Given the description of an element on the screen output the (x, y) to click on. 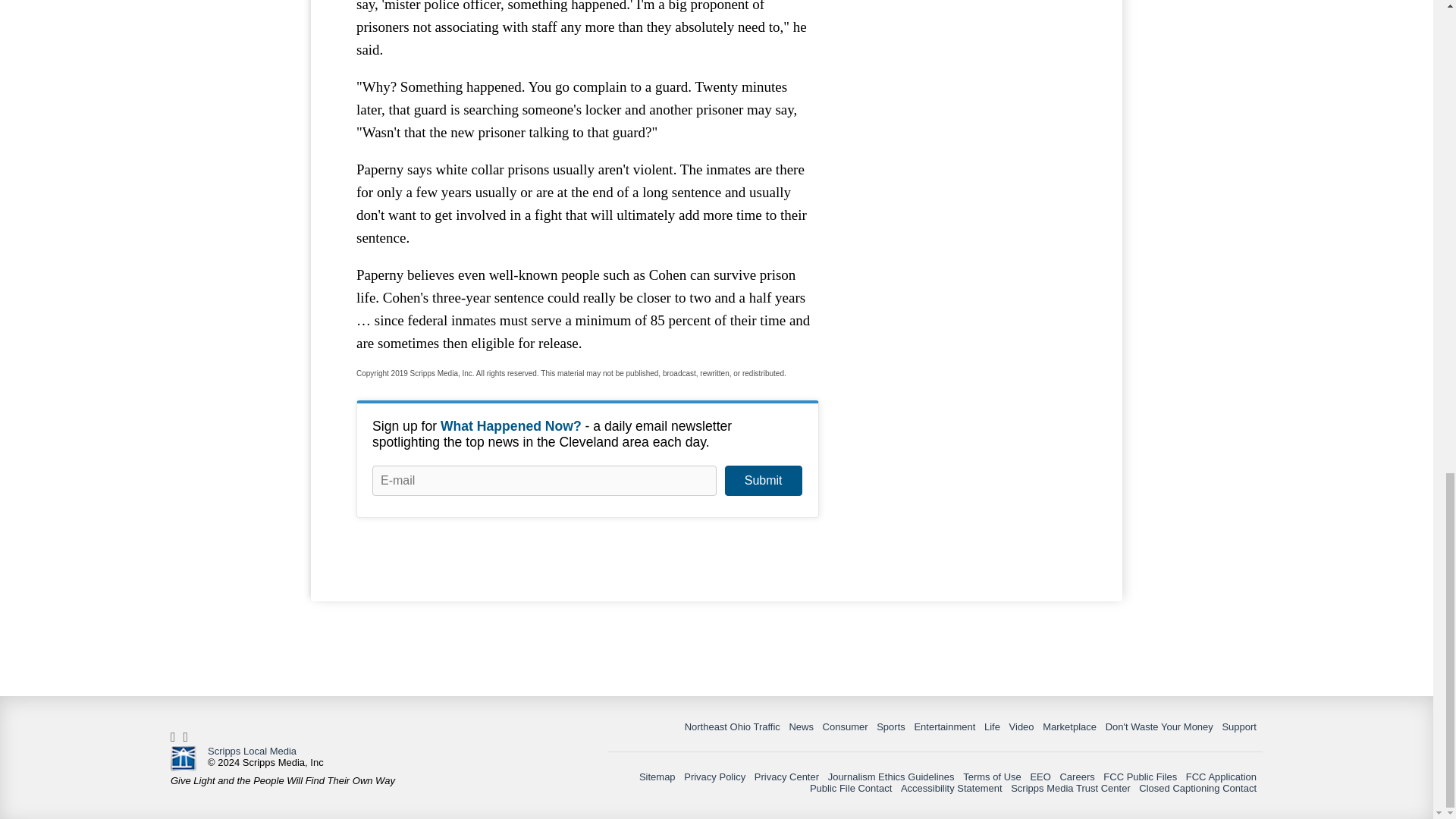
Submit (763, 481)
